Given the description of an element on the screen output the (x, y) to click on. 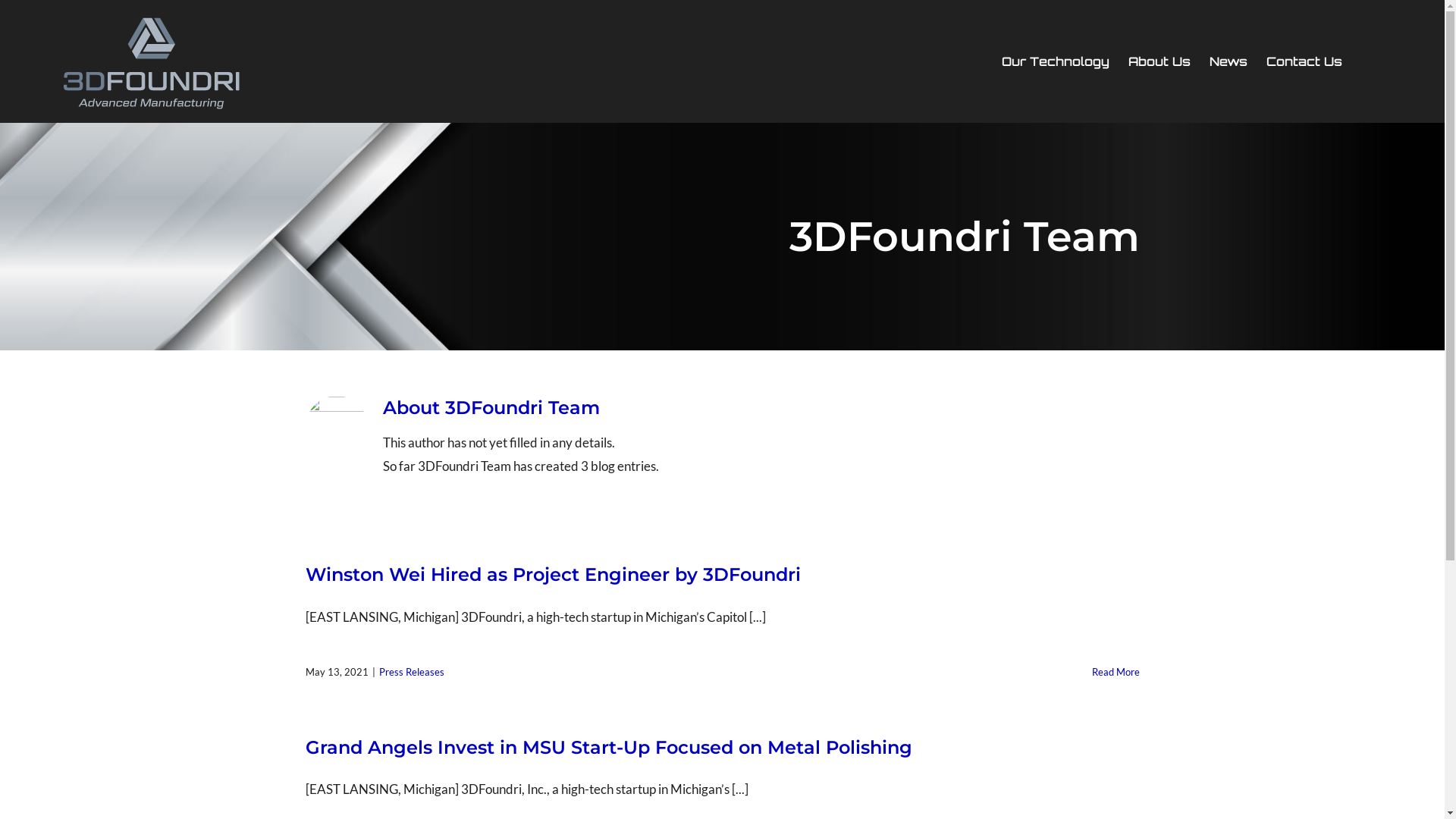
Contact Us Element type: text (1304, 61)
Winston Wei Hired as Project Engineer by 3DFoundri Element type: text (552, 574)
About Us Element type: text (1159, 61)
Press Releases Element type: text (411, 671)
News Element type: text (1228, 61)
Our Technology Element type: text (1055, 61)
Read More Element type: text (1115, 671)
